Given the description of an element on the screen output the (x, y) to click on. 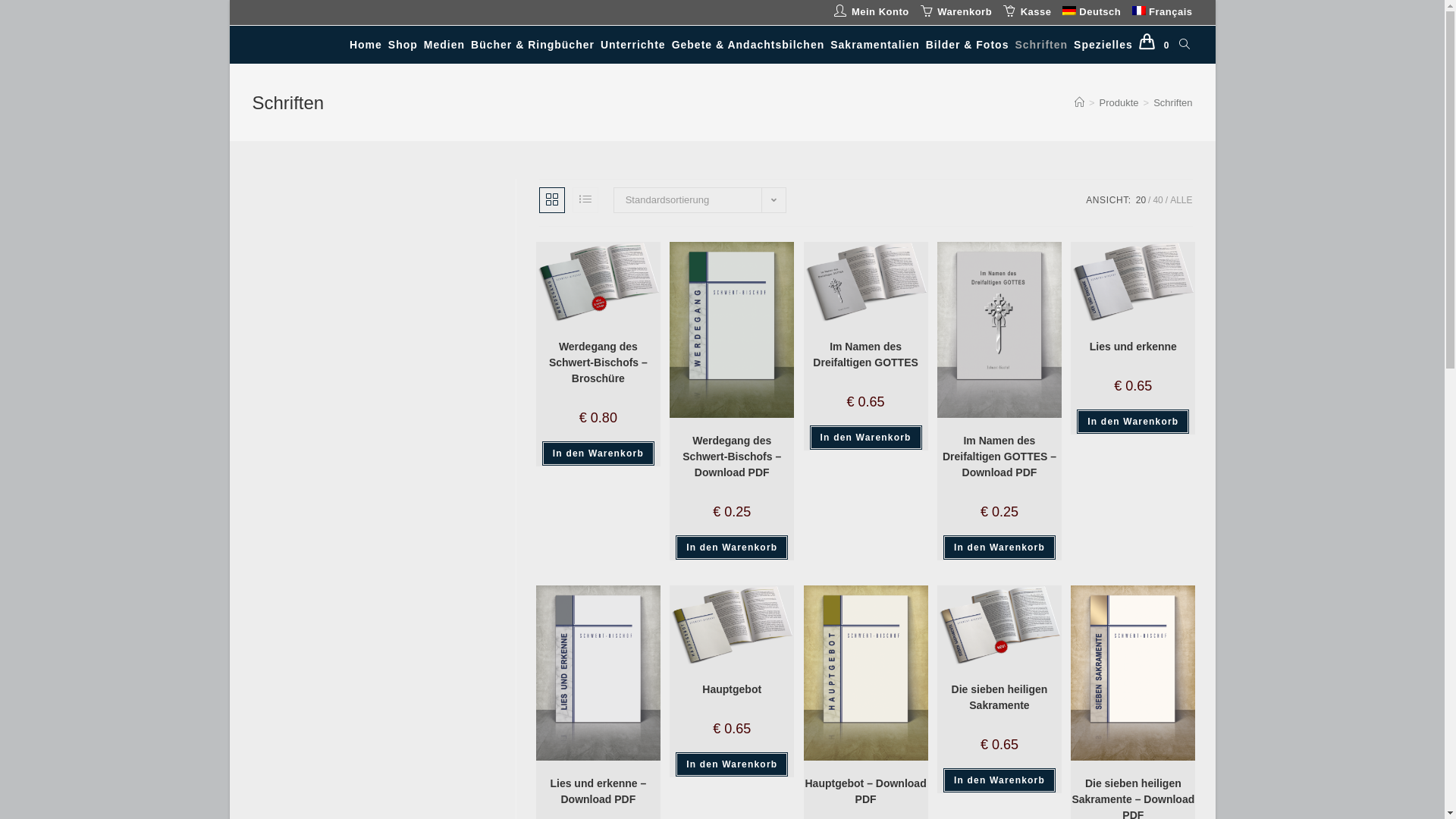
Sakramentalien Element type: text (874, 44)
Spezielles Element type: text (1102, 44)
Bilder & Fotos Element type: text (967, 44)
Im Namen des Dreifaltigen GOTTES Element type: text (865, 354)
Deutsch Element type: text (1091, 12)
Listenansicht Element type: hover (585, 200)
In den Warenkorb Element type: text (999, 780)
ALLE Element type: text (1181, 199)
In den Warenkorb Element type: text (731, 764)
In den Warenkorb Element type: text (598, 453)
In den Warenkorb Element type: text (731, 547)
Home Element type: text (365, 44)
Produkte Element type: text (1119, 102)
0 Element type: text (1155, 44)
20 Element type: text (1140, 199)
Hauptgebot Element type: text (731, 689)
Schriften Element type: text (1172, 102)
Warenkorb Element type: text (955, 12)
Medien Element type: text (443, 44)
In den Warenkorb Element type: text (1132, 421)
Unterrichte Element type: text (632, 44)
Schriften Element type: text (1040, 44)
In den Warenkorb Element type: text (999, 547)
Lies und erkenne Element type: text (1132, 346)
Gebete & Andachtsbilchen Element type: text (748, 44)
In den Warenkorb Element type: text (865, 437)
Die sieben heiligen Sakramente Element type: text (999, 697)
Shop Element type: text (402, 44)
40 Element type: text (1157, 199)
Mein Konto Element type: text (871, 12)
Kasse Element type: text (1027, 12)
Rasteransicht Element type: hover (551, 200)
